Given the description of an element on the screen output the (x, y) to click on. 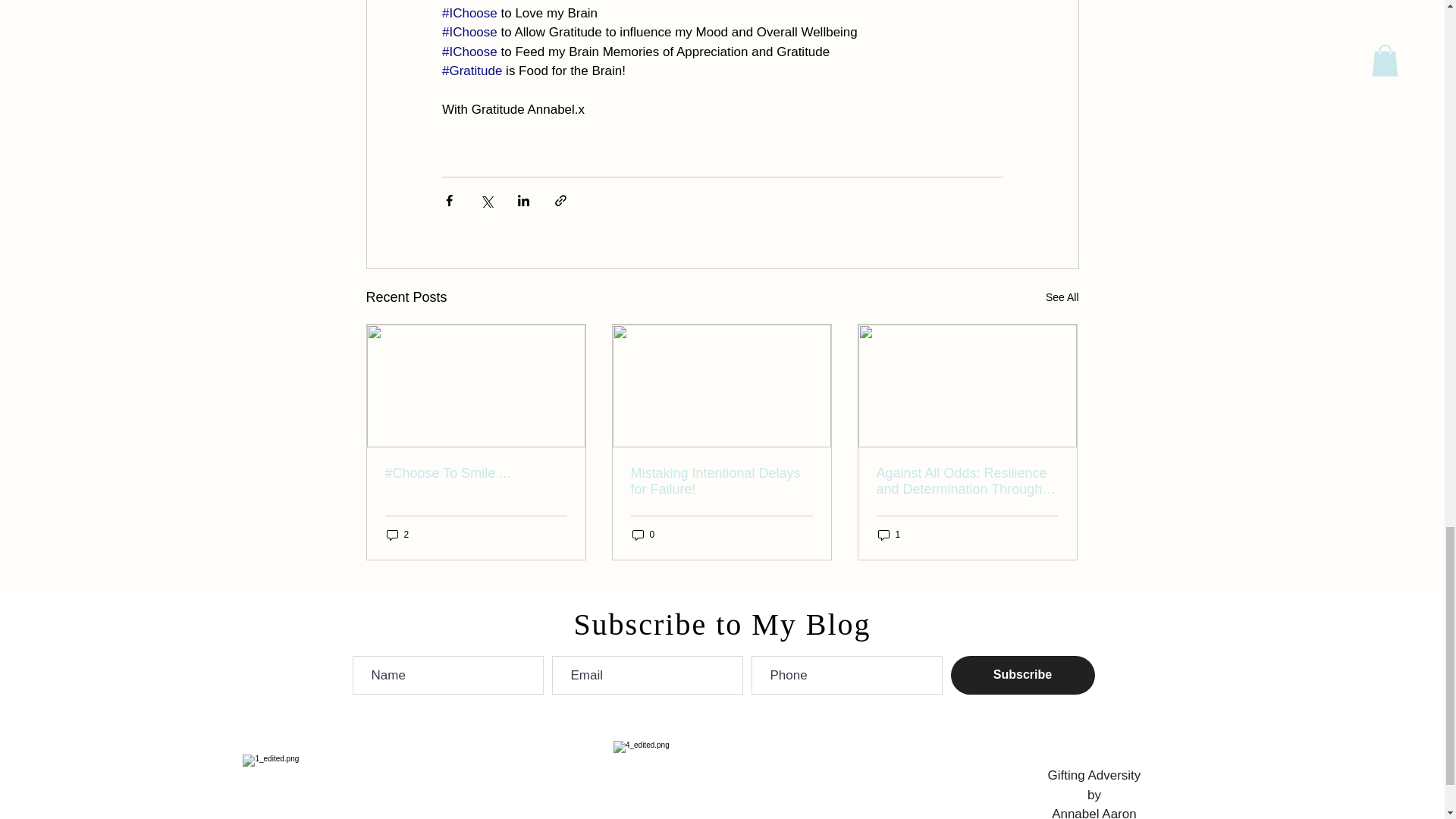
See All (1061, 297)
0 (643, 534)
Subscribe (1022, 675)
1 (889, 534)
2 (397, 534)
Mistaking Intentional Delays for Failure! (721, 481)
Against All Odds: Resilience and Determination Through Life! (967, 481)
